Given the description of an element on the screen output the (x, y) to click on. 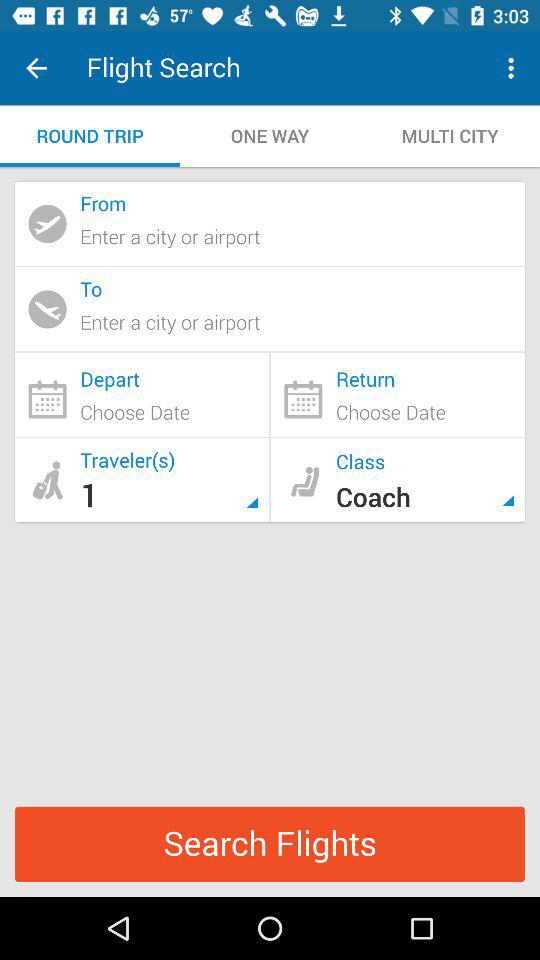
select the correct option (397, 394)
click on the multi city option (450, 136)
select the icon flight left to from (47, 223)
